Given the description of an element on the screen output the (x, y) to click on. 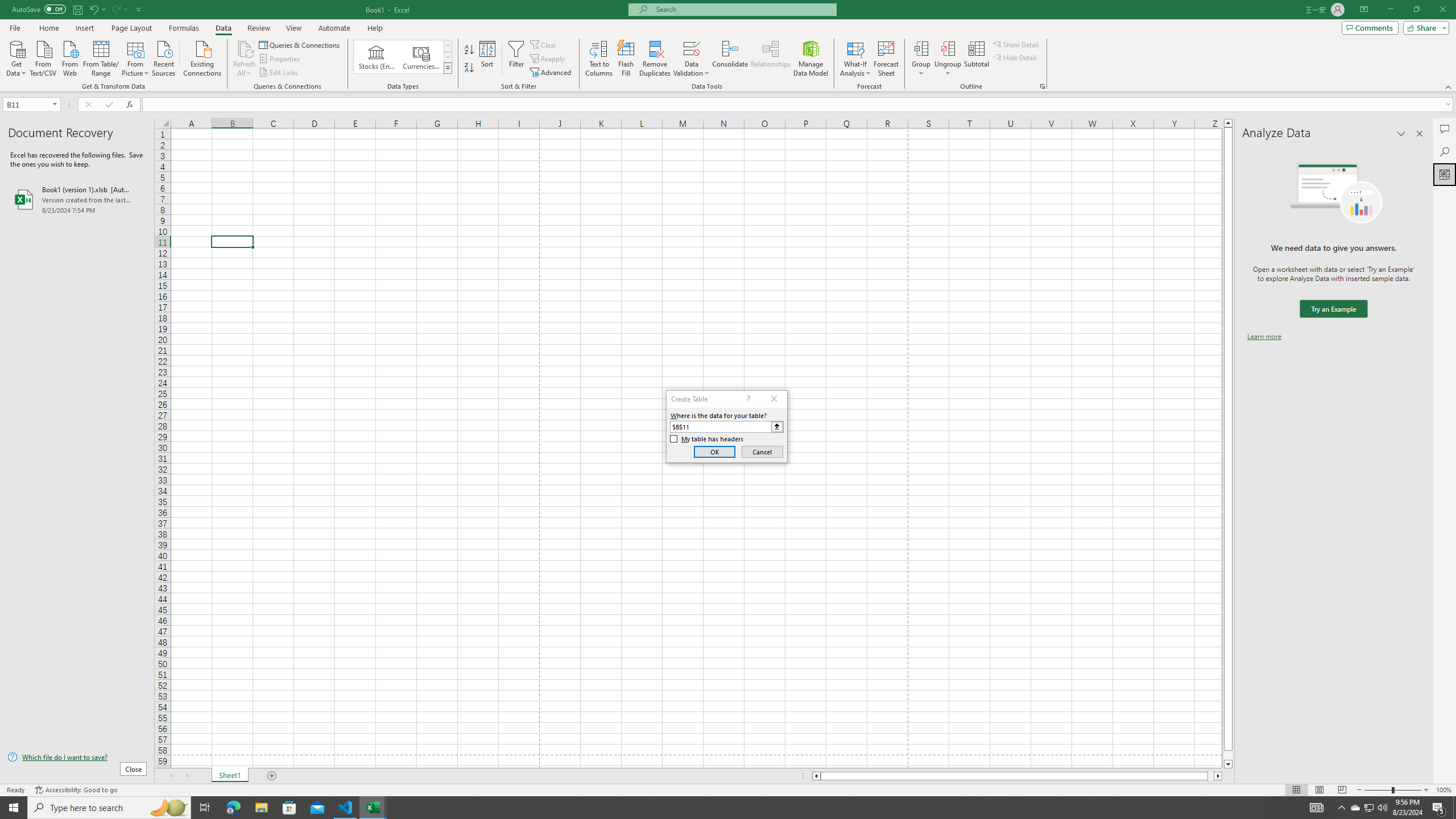
Stocks (English) (375, 56)
Subtotal (976, 58)
Queries & Connections (300, 44)
